Given the description of an element on the screen output the (x, y) to click on. 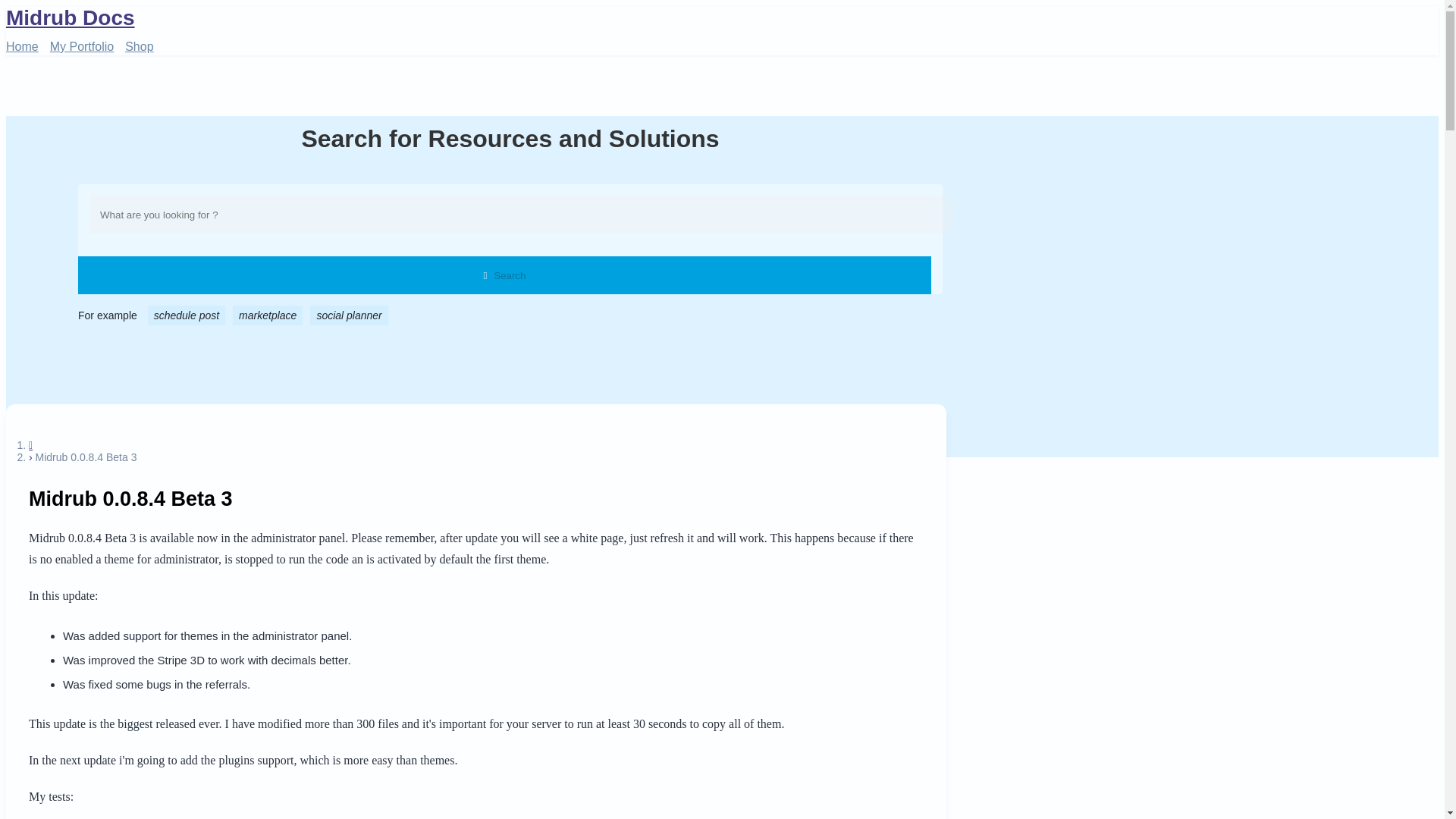
Search (504, 275)
social planner (348, 315)
Shop (138, 47)
Home (22, 47)
My Portfolio (81, 47)
Midrub Docs (475, 18)
schedule post (186, 315)
marketplace (267, 315)
